Given the description of an element on the screen output the (x, y) to click on. 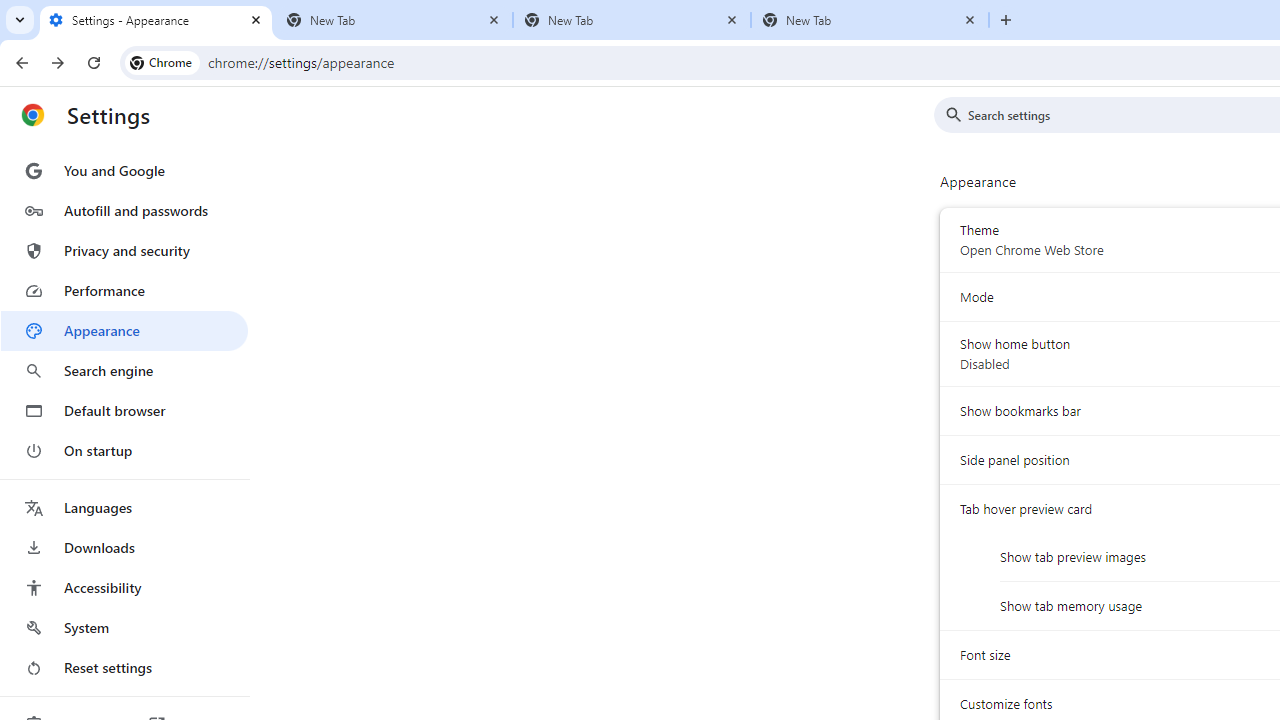
Appearance (124, 331)
Reset settings (124, 668)
Languages (124, 507)
Search engine (124, 370)
Default browser (124, 410)
Downloads (124, 547)
Autofill and passwords (124, 210)
Performance (124, 290)
On startup (124, 450)
